Given the description of an element on the screen output the (x, y) to click on. 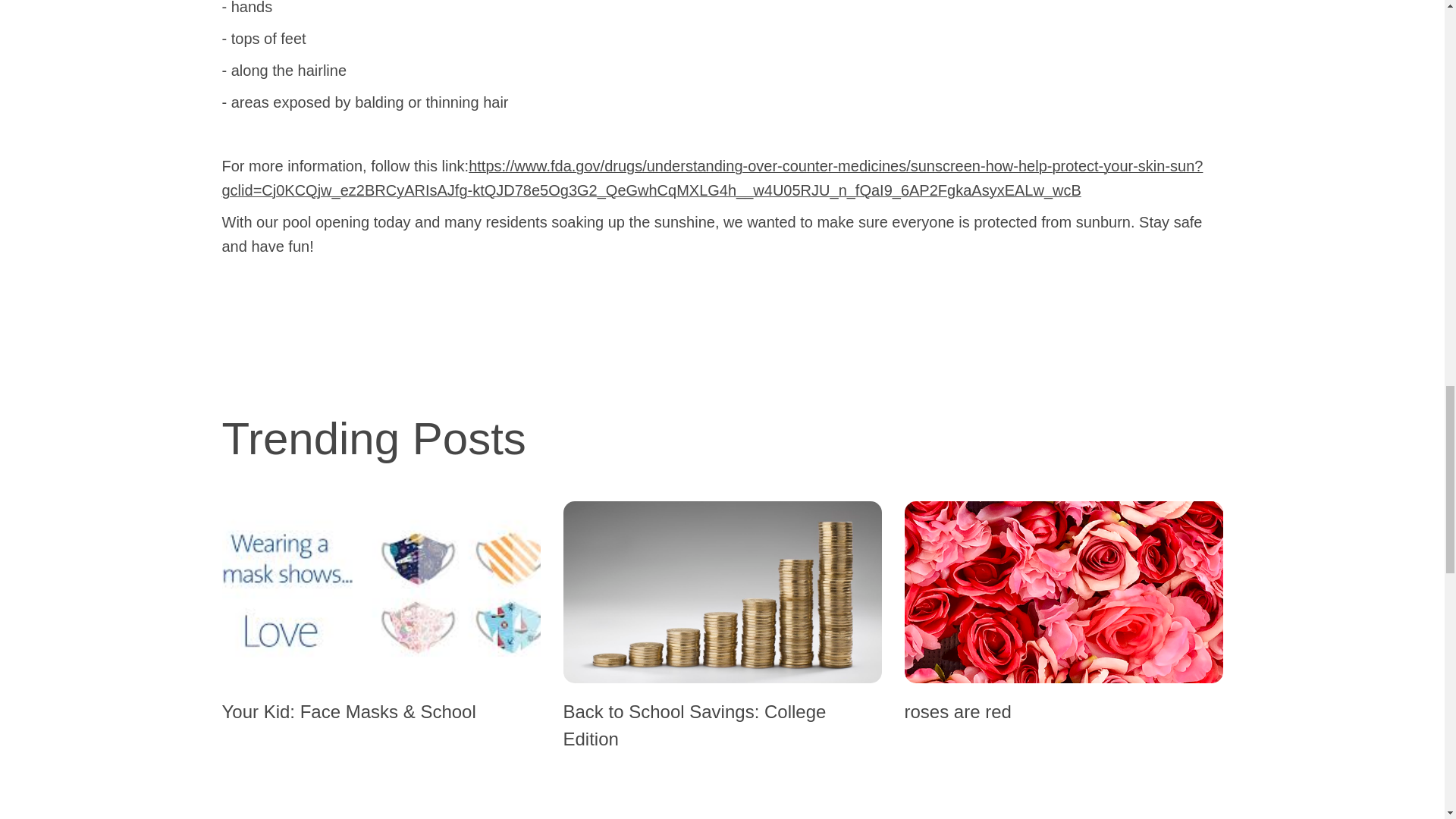
roses are red (1063, 630)
Back to School Savings: College Edition (721, 630)
